Given the description of an element on the screen output the (x, y) to click on. 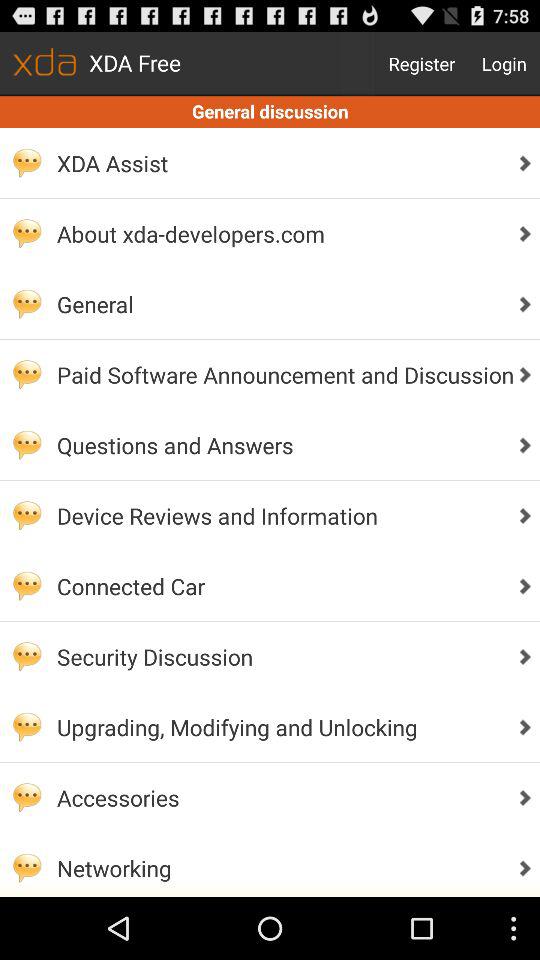
choose the icon next to the register (504, 63)
